Given the description of an element on the screen output the (x, y) to click on. 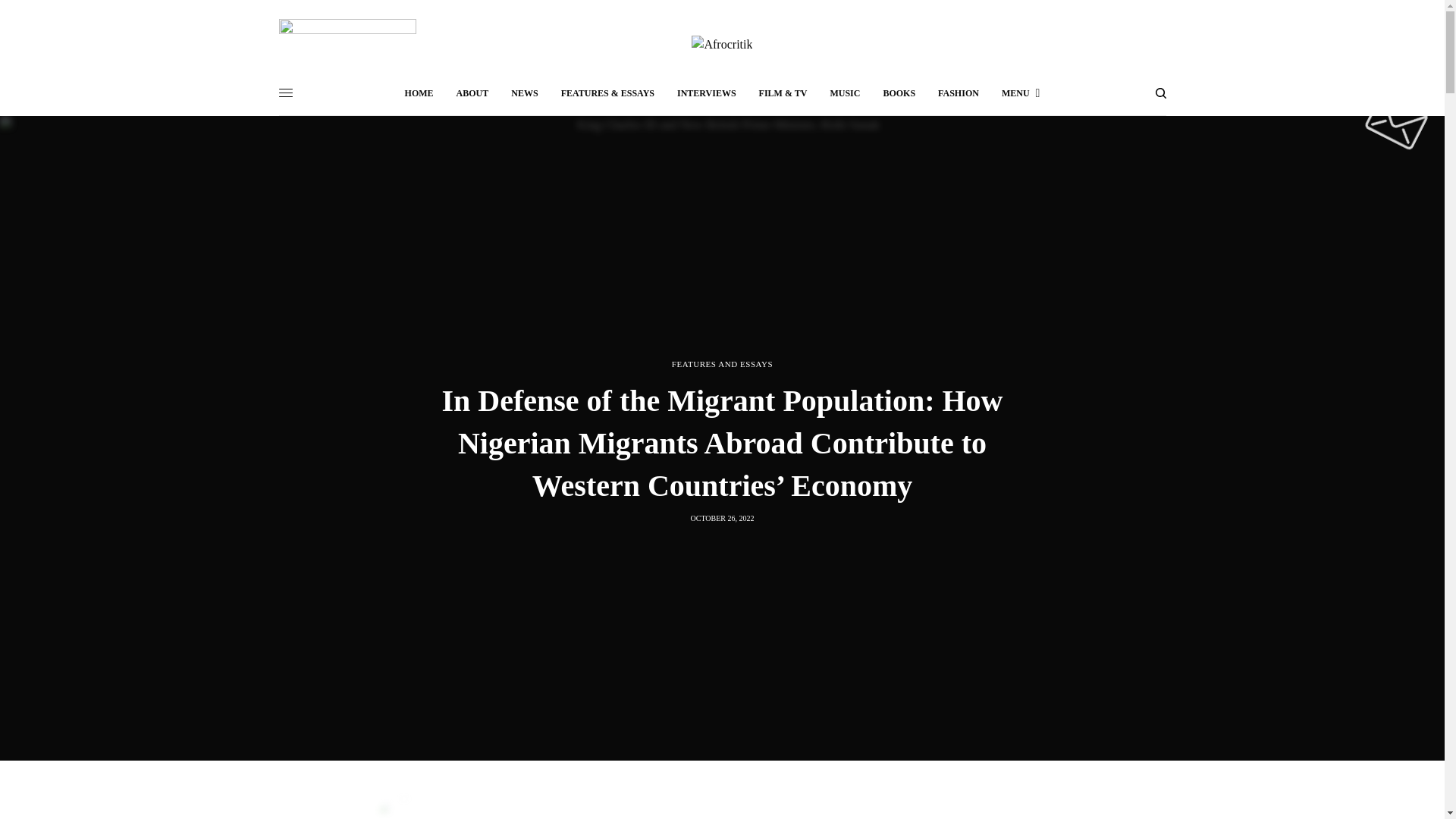
Afrocritik (721, 45)
FEATURES AND ESSAYS (722, 364)
FASHION (957, 92)
INTERVIEWS (706, 92)
